Given the description of an element on the screen output the (x, y) to click on. 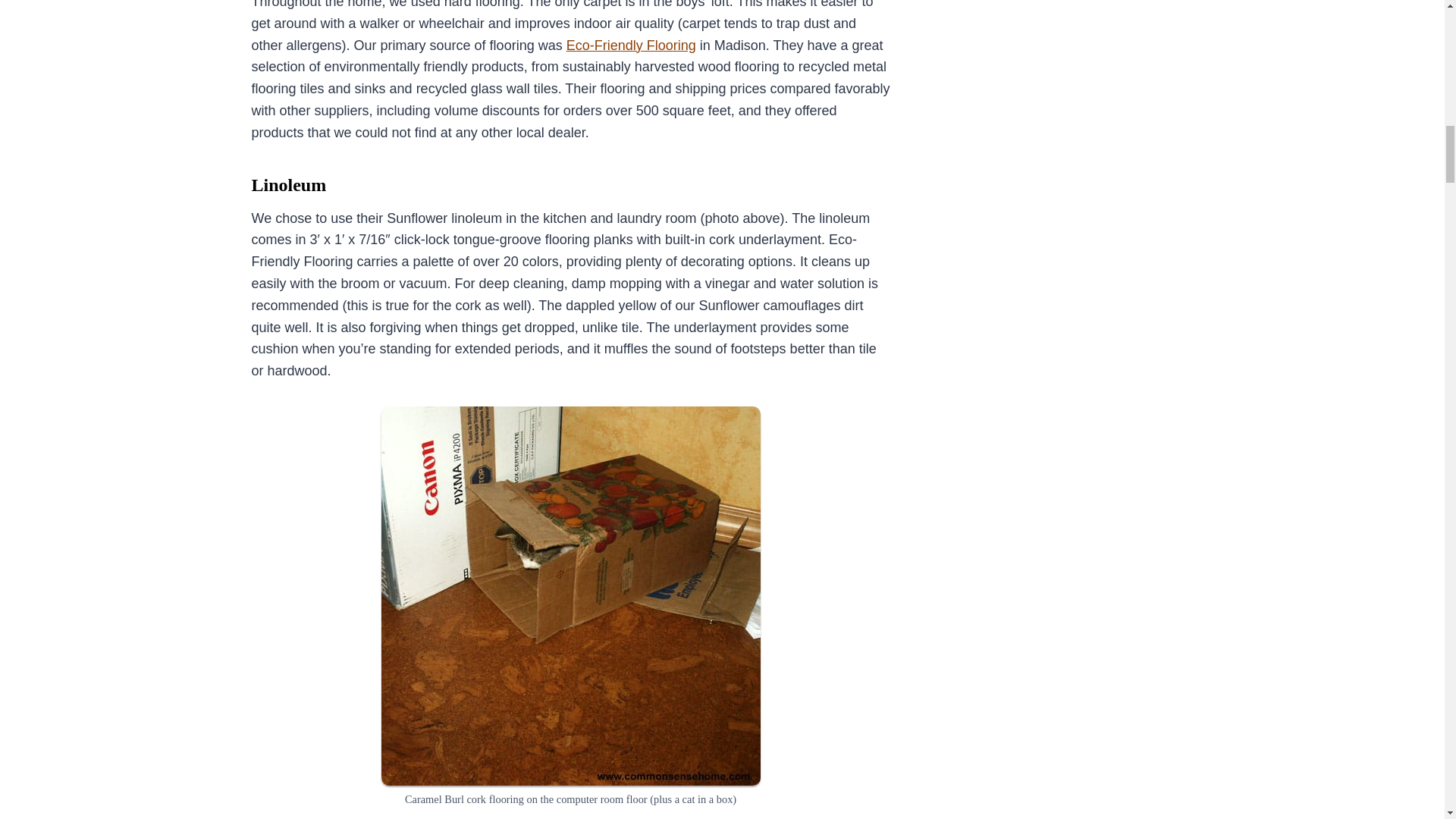
Eco-Friendly Flooring (630, 45)
